Given the description of an element on the screen output the (x, y) to click on. 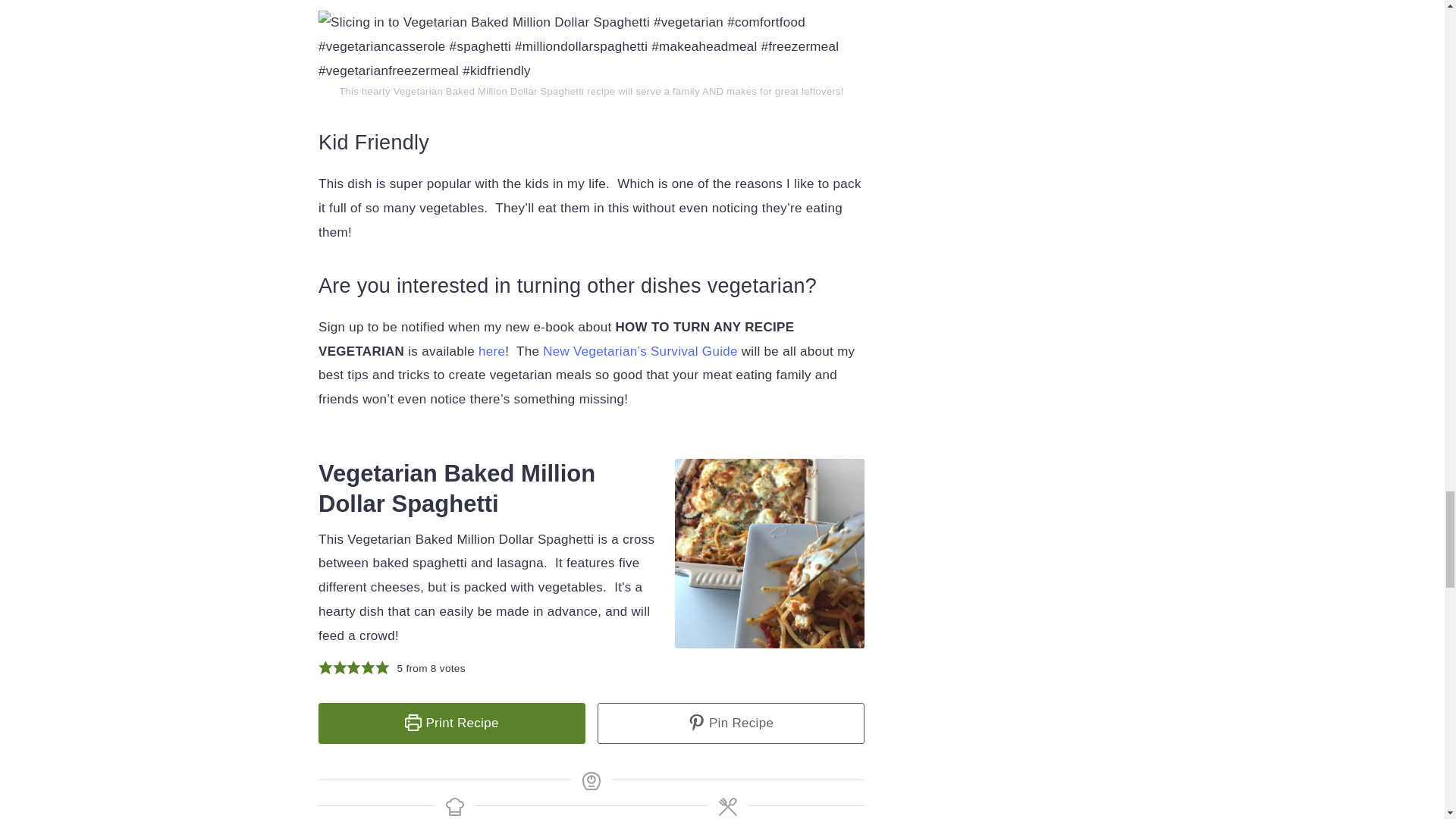
here (492, 350)
Print Recipe (451, 722)
Pin Recipe (730, 722)
